Given the description of an element on the screen output the (x, y) to click on. 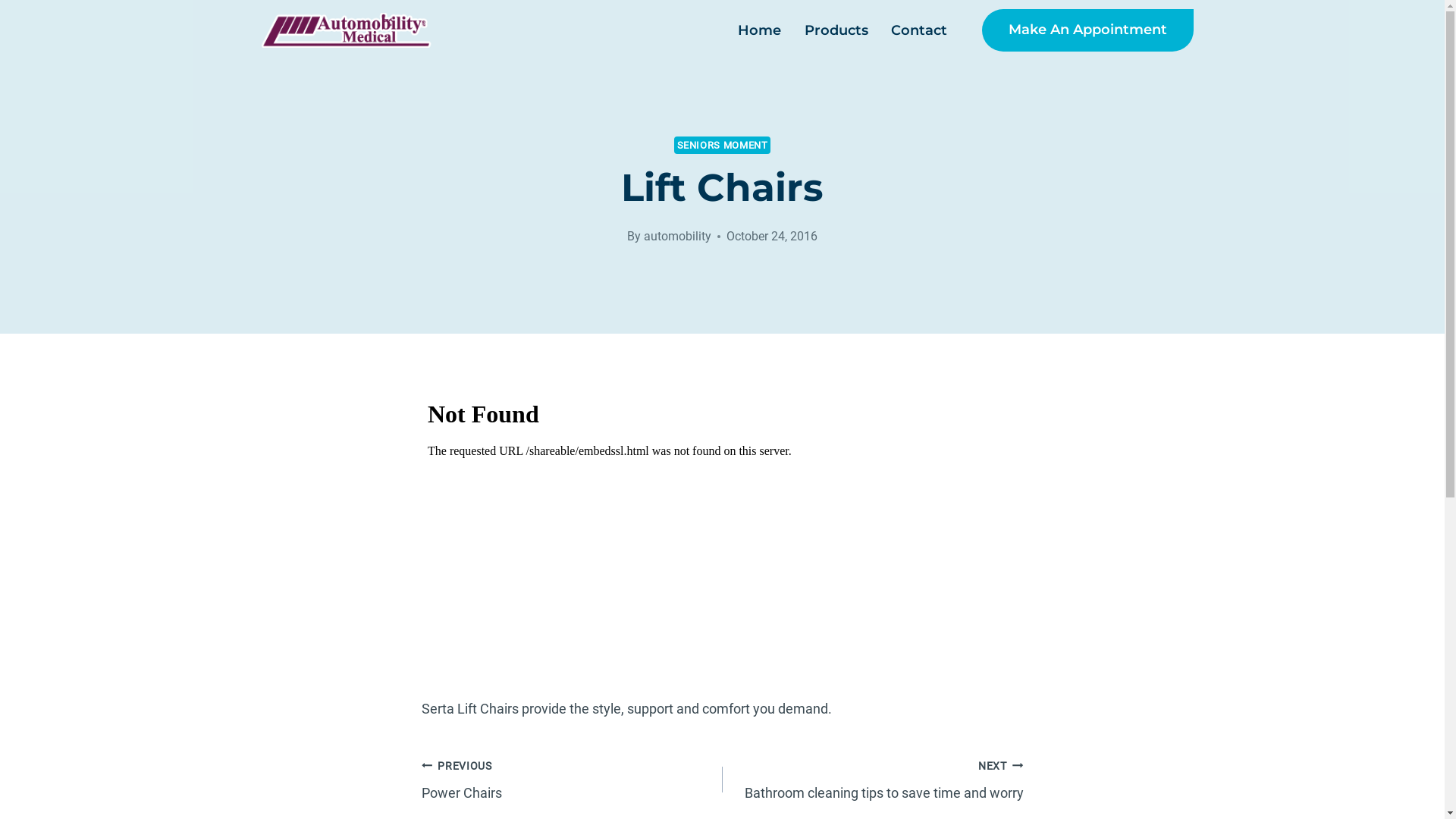
SENIORS MOMENT Element type: text (722, 144)
Contact Element type: text (919, 30)
PREVIOUS
Power Chairs Element type: text (571, 779)
Products Element type: text (835, 30)
automobility Element type: text (677, 236)
NEXT
Bathroom cleaning tips to save time and worry Element type: text (871, 779)
Home Element type: text (759, 30)
Make An Appointment Element type: text (1086, 30)
Skip to content Element type: text (0, 0)
